Given the description of an element on the screen output the (x, y) to click on. 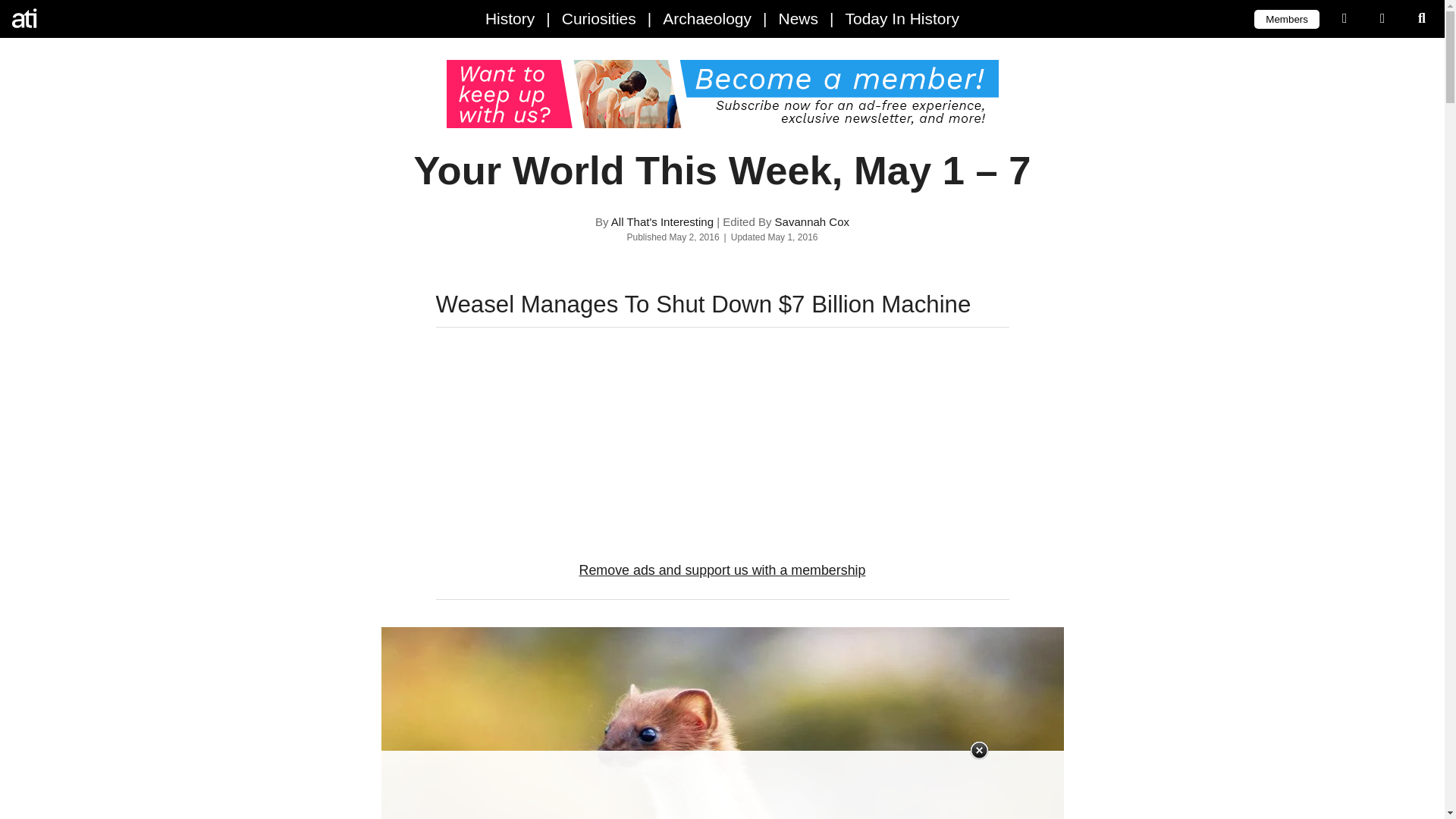
Members (1286, 18)
All That's Interesting (75, 18)
Curiosities (598, 18)
Savannah Cox (811, 221)
News (798, 18)
Remove ads and support us with a membership (722, 571)
Today In History (901, 18)
Archaeology (706, 18)
All That's Interesting (662, 221)
History (510, 18)
